Given the description of an element on the screen output the (x, y) to click on. 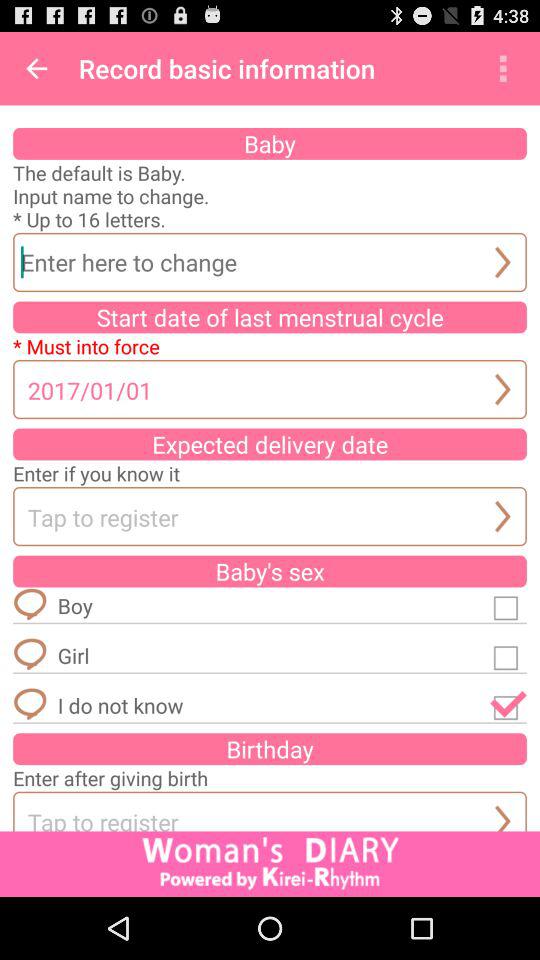
select i do not know option (508, 705)
